Given the description of an element on the screen output the (x, y) to click on. 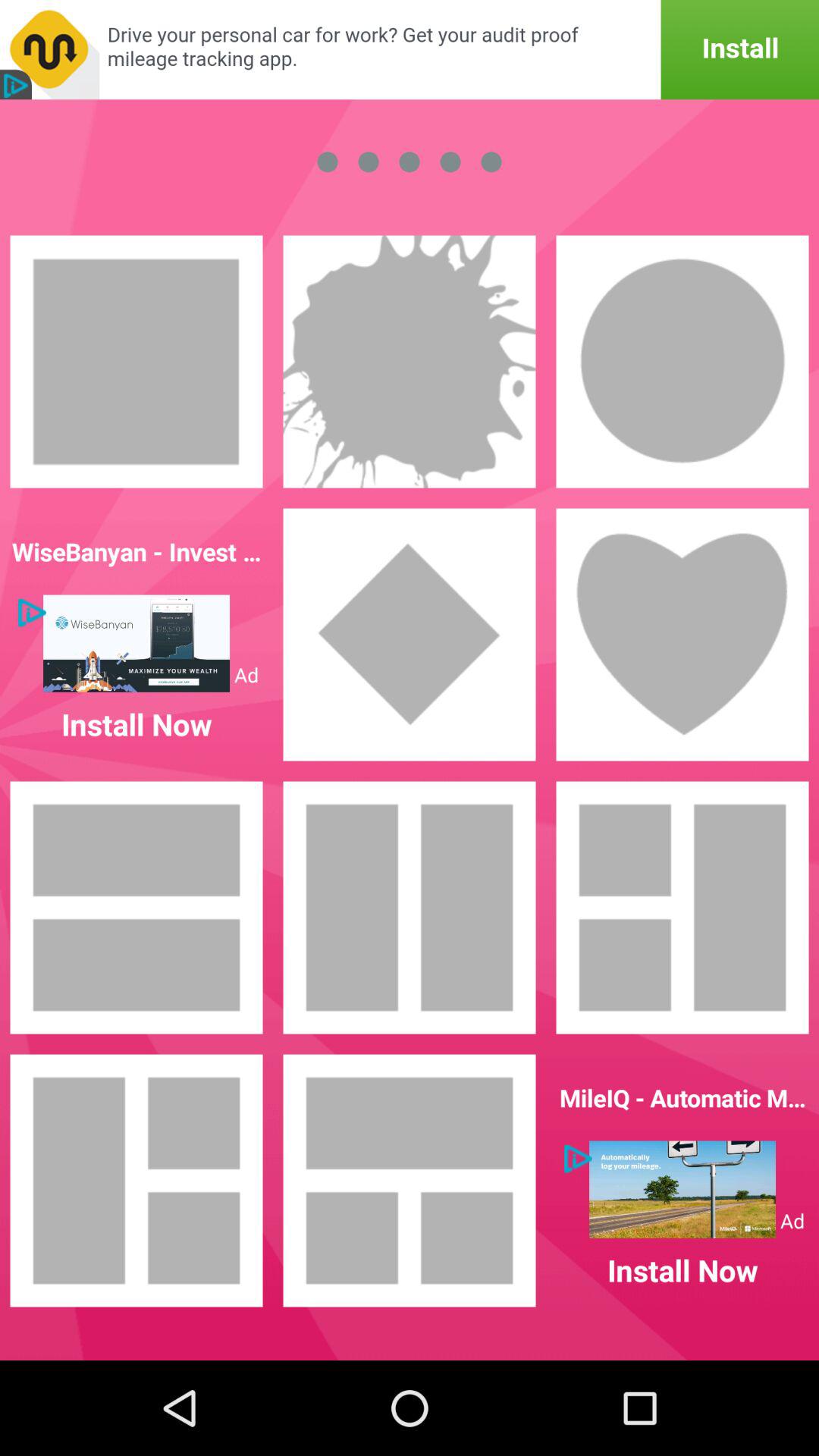
choose layout (409, 907)
